Given the description of an element on the screen output the (x, y) to click on. 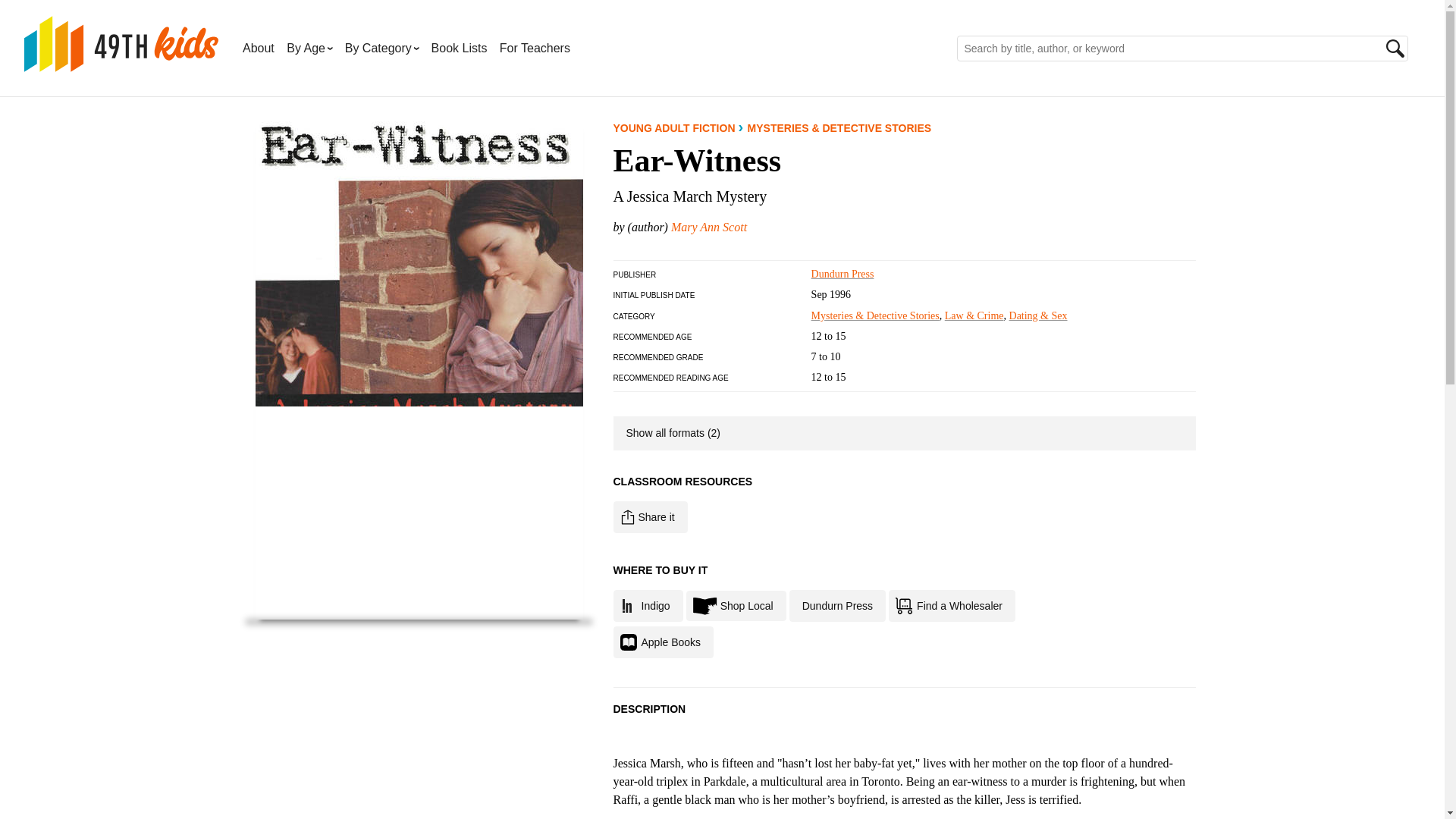
Apple Books (662, 642)
Share it (649, 517)
View Dundurn Press books (842, 274)
Search (1395, 48)
Indigo (647, 605)
YOUNG ADULT FICTION (673, 128)
Dundurn Press (842, 274)
Buy at Apple Books (662, 642)
Find an independent bookseller near you (735, 605)
Mary Ann Scott (708, 226)
